Given the description of an element on the screen output the (x, y) to click on. 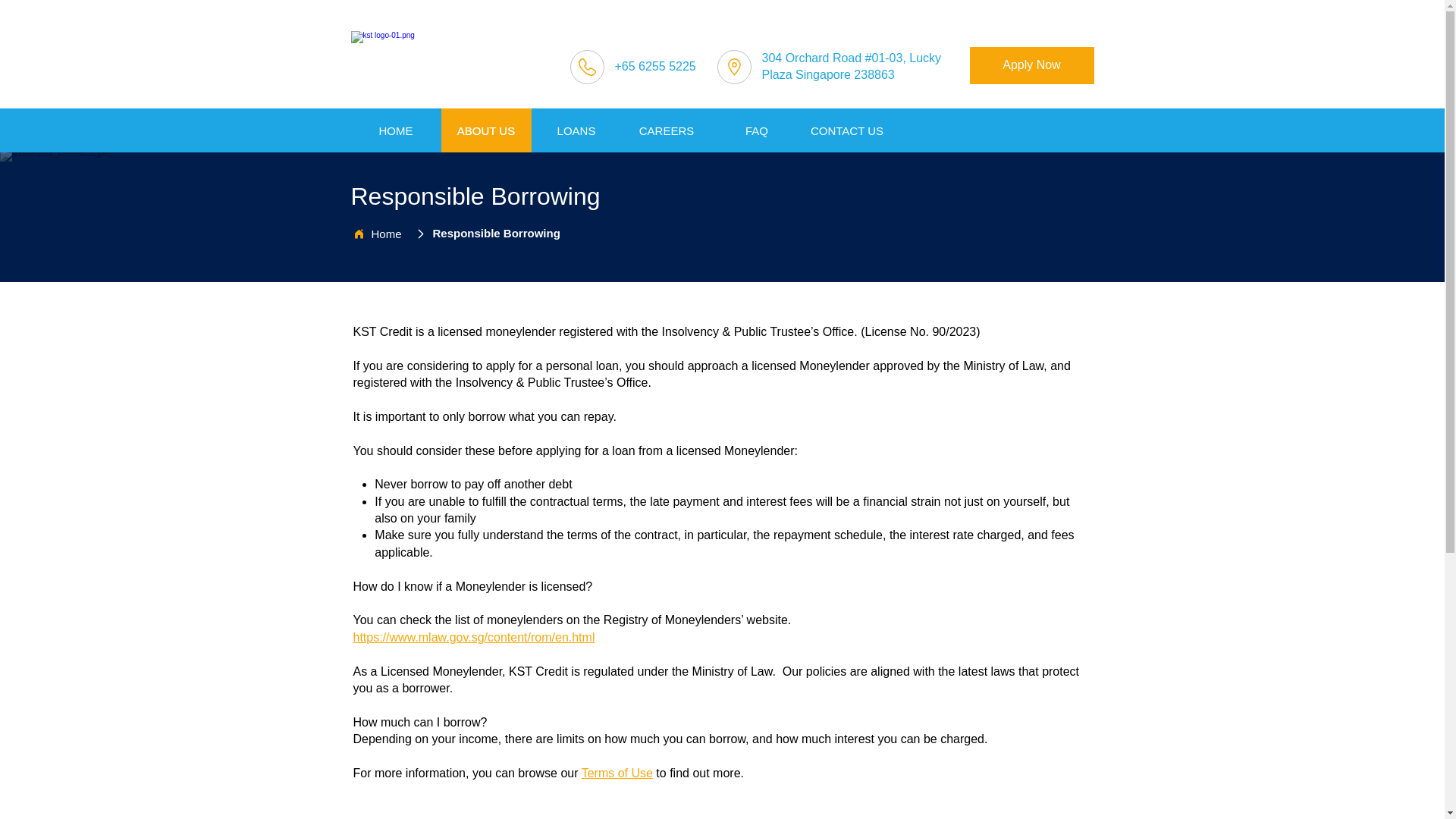
CONTACT US (847, 130)
FAQ (756, 130)
CAREERS (666, 130)
Home (383, 233)
HOME (395, 130)
Terms of Use (616, 772)
Apply Now (1031, 65)
ABOUT US (486, 130)
